Given the description of an element on the screen output the (x, y) to click on. 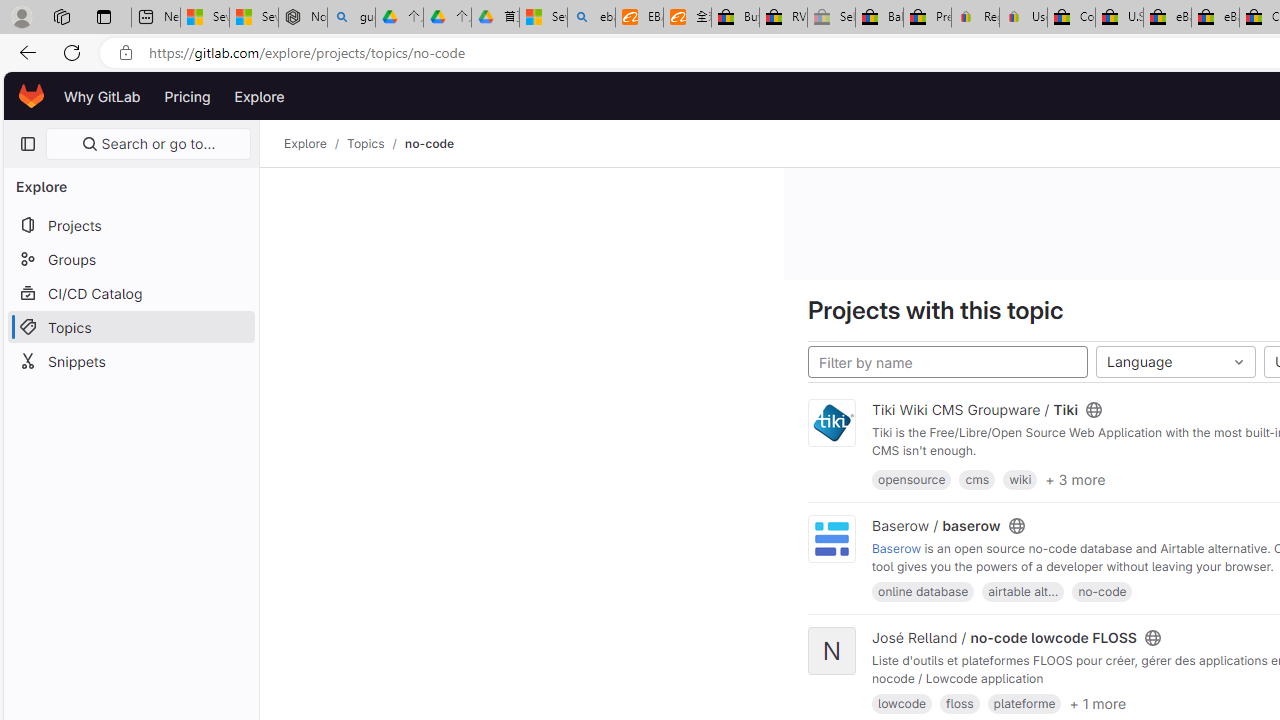
Homepage (31, 95)
Sell worldwide with eBay - Sleeping (831, 17)
Tiki Wiki CMS Groupware / Tiki (975, 410)
Topics (365, 143)
eBay Inc. Reports Third Quarter 2023 Results (1215, 17)
+ 1 more (1097, 702)
Projects (130, 224)
Topics/ (375, 143)
lowcode (901, 703)
Why GitLab (102, 95)
N (831, 651)
User Privacy Notice | eBay (1023, 17)
